Given the description of an element on the screen output the (x, y) to click on. 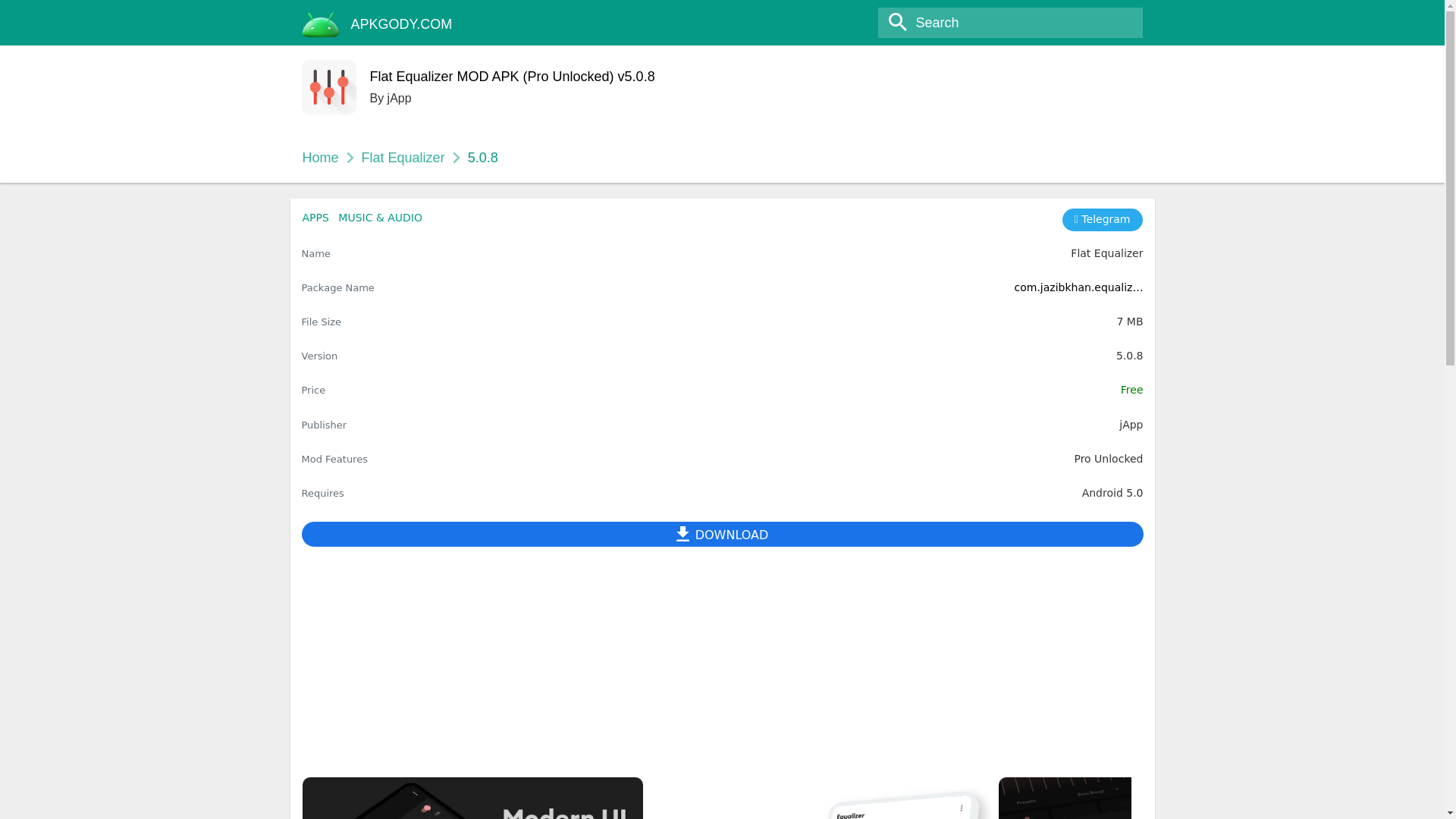
APKGODY.COM (401, 23)
GO (18, 13)
Flat Equalizer (403, 157)
Home (319, 157)
DOWNLOAD (721, 534)
APPS (315, 217)
APKGODY.COM (401, 23)
Telegram (1102, 219)
